Given the description of an element on the screen output the (x, y) to click on. 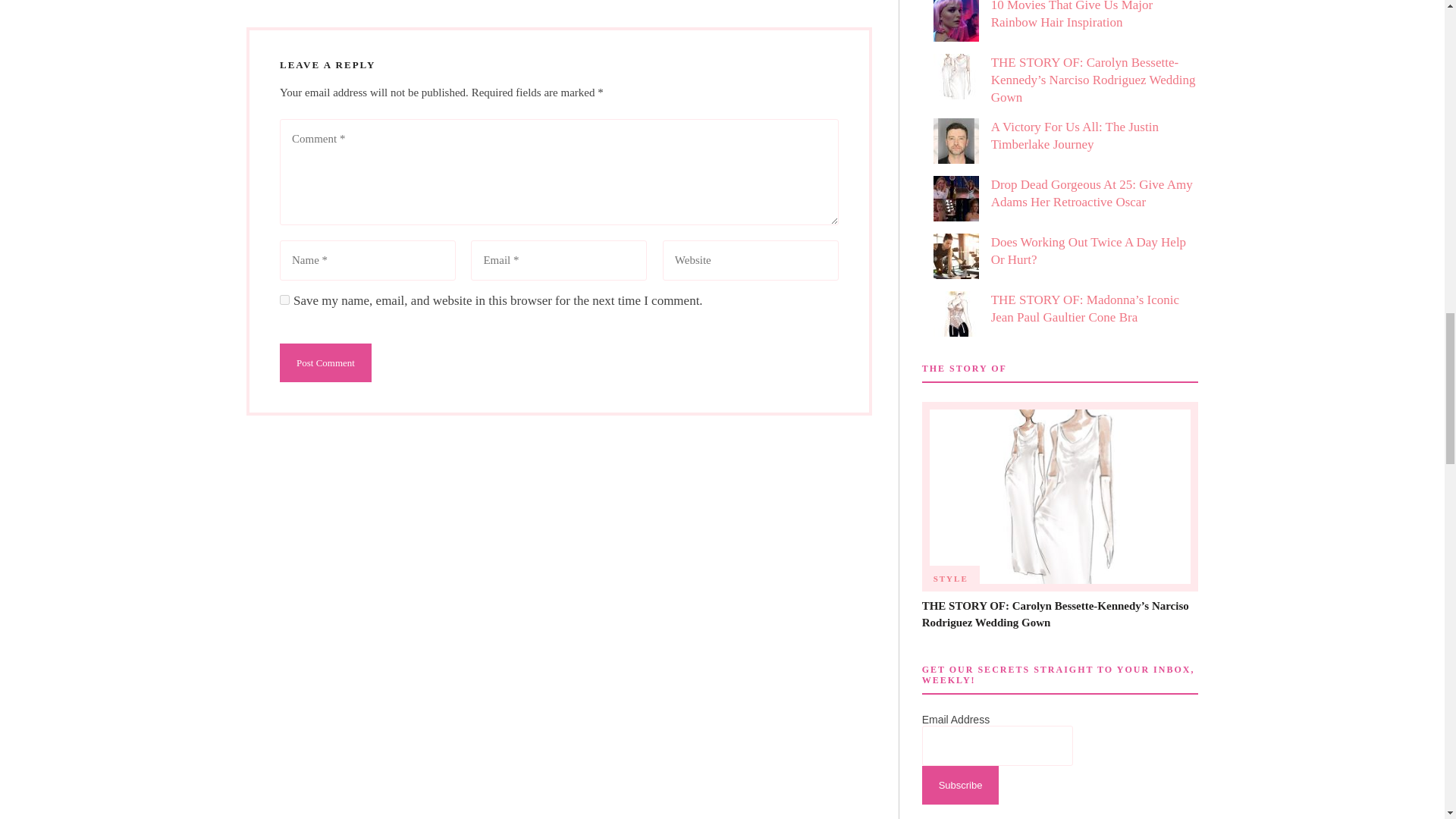
Subscribe (959, 784)
Post Comment (325, 362)
yes (284, 299)
